Given the description of an element on the screen output the (x, y) to click on. 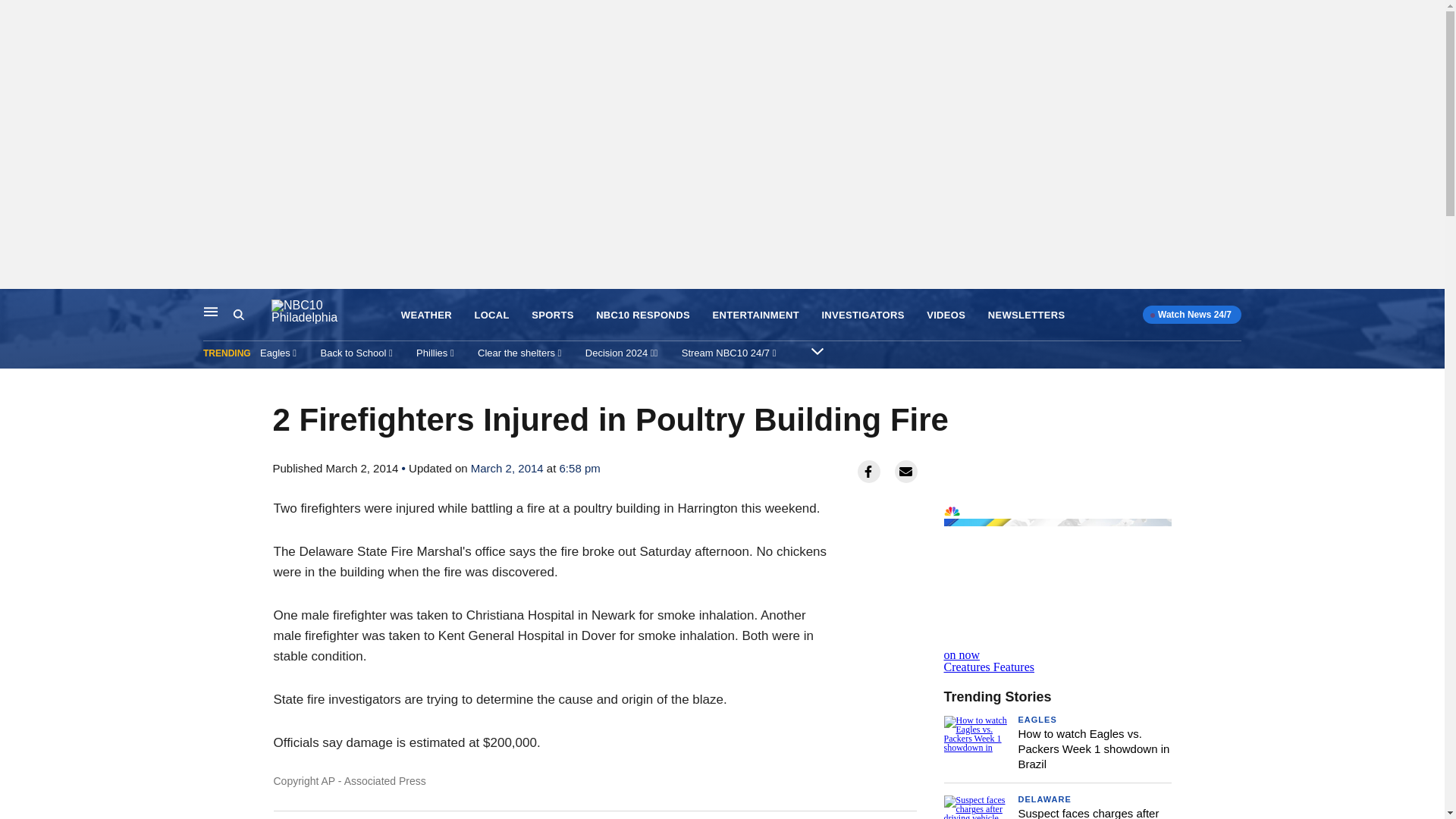
NBC10 RESPONDS (642, 315)
NEWSLETTERS (1026, 315)
INVESTIGATORS (862, 315)
WEATHER (426, 315)
Expand (817, 350)
Main Navigation (210, 311)
VIDEOS (945, 315)
EAGLES (1037, 718)
SPORTS (552, 315)
Skip to content (16, 304)
